Given the description of an element on the screen output the (x, y) to click on. 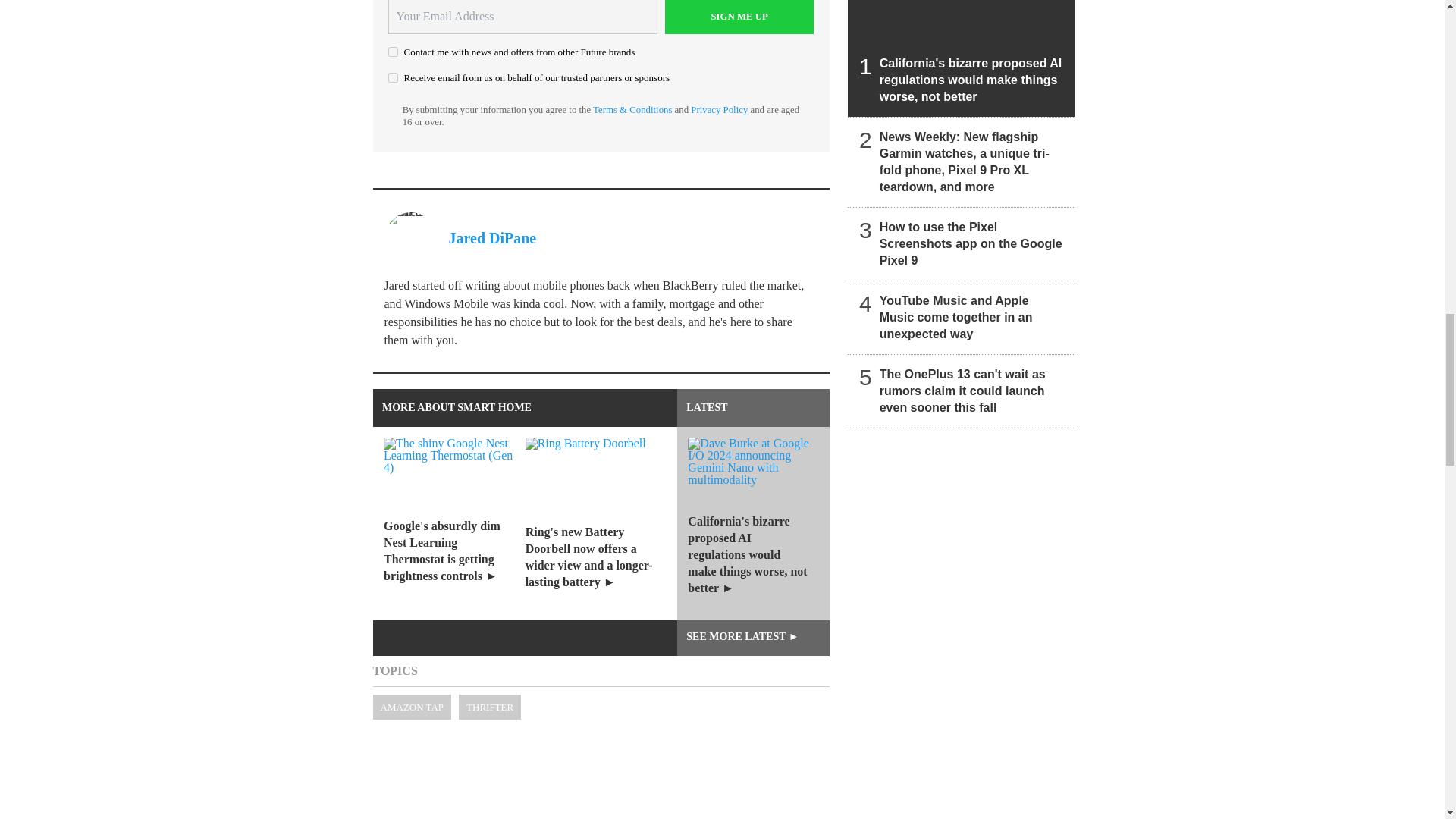
on (392, 77)
Sign me up (739, 17)
on (392, 51)
